Given the description of an element on the screen output the (x, y) to click on. 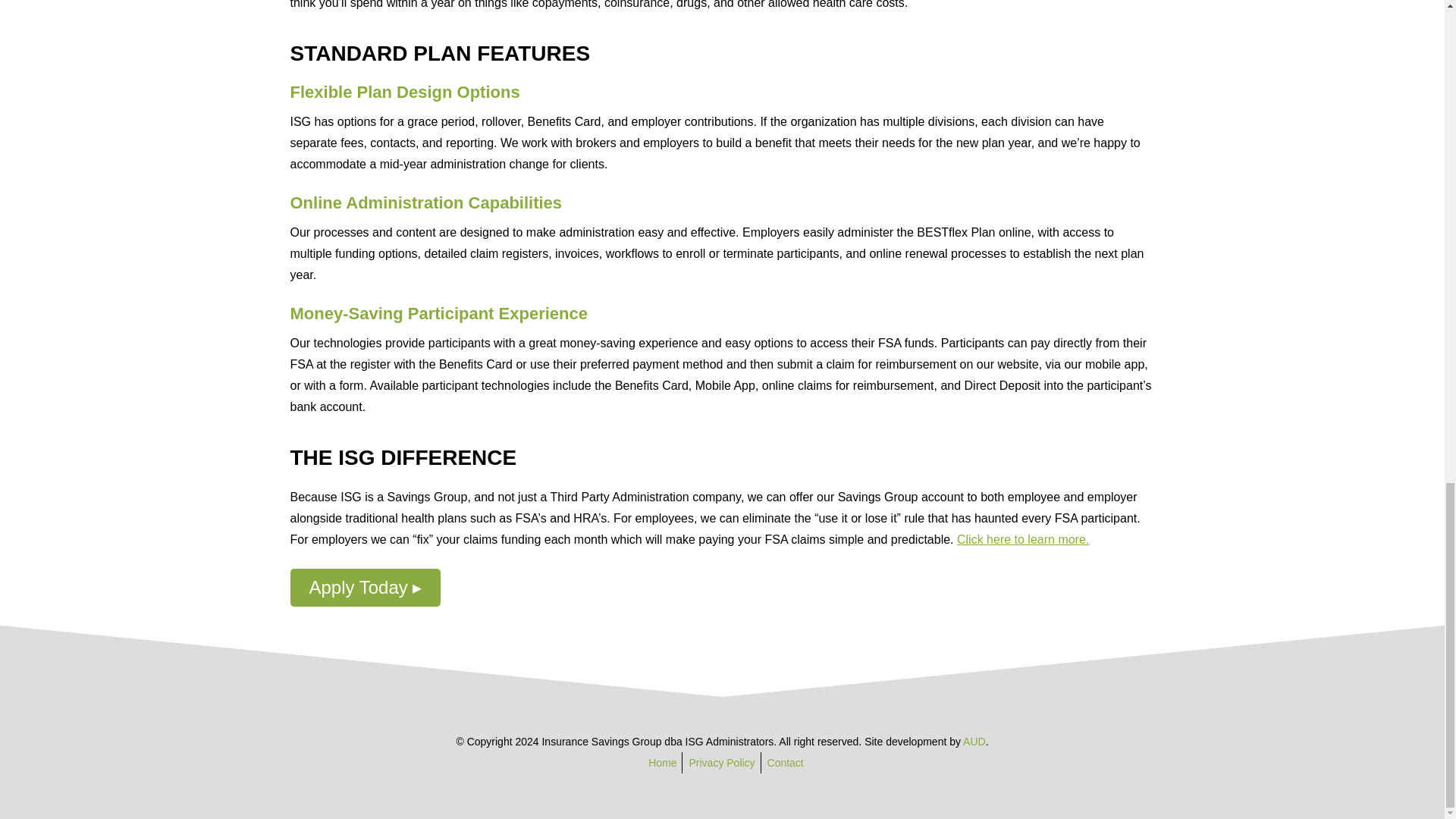
Home (662, 762)
AUD (973, 741)
Apply Today (365, 587)
Privacy Policy (721, 762)
Contact (785, 762)
Click here to learn more. (1022, 539)
